Given the description of an element on the screen output the (x, y) to click on. 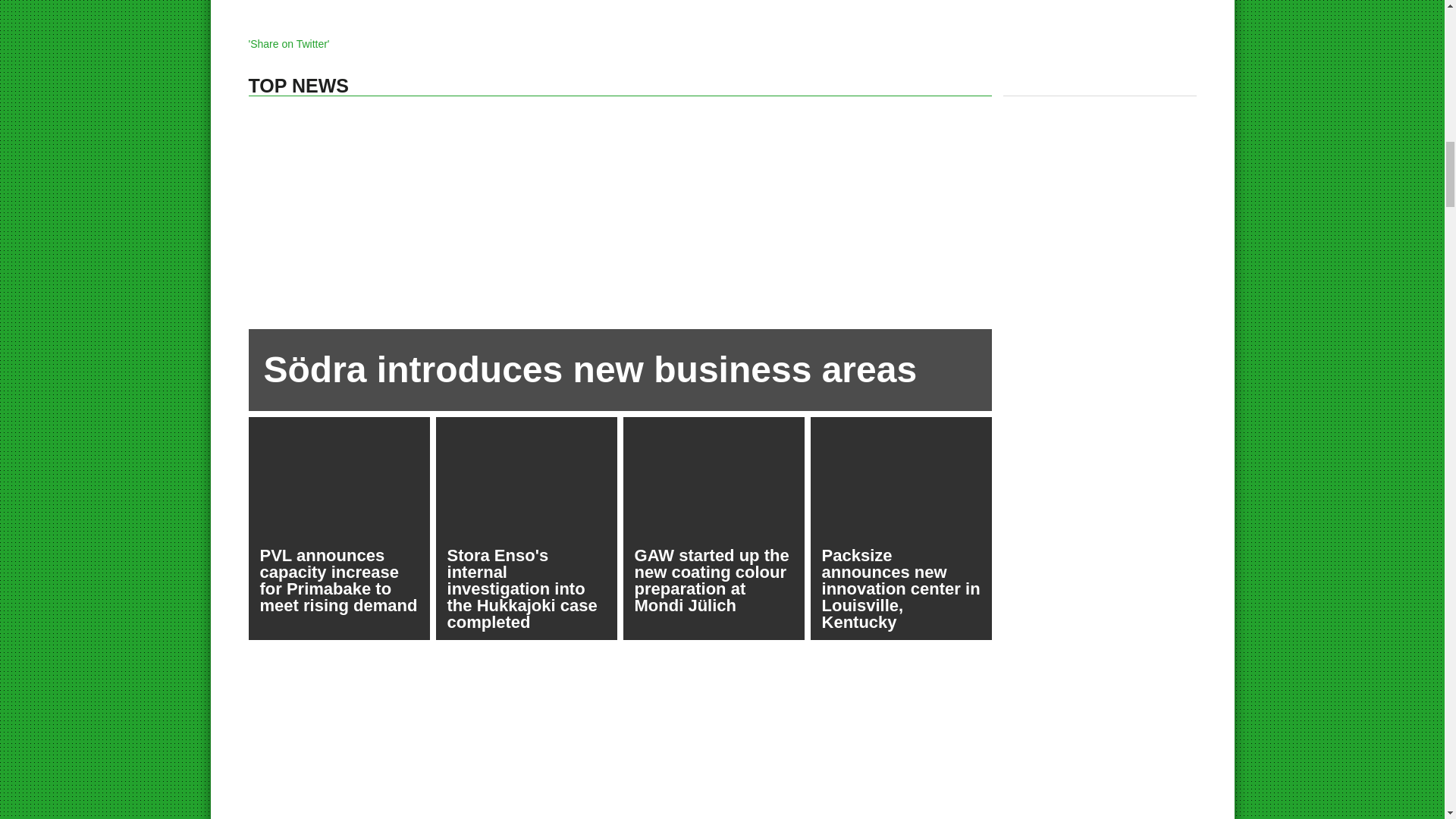
3rd party ad content (958, 803)
3rd party ad content (722, 707)
'Share on Twitter' (289, 43)
